Given the description of an element on the screen output the (x, y) to click on. 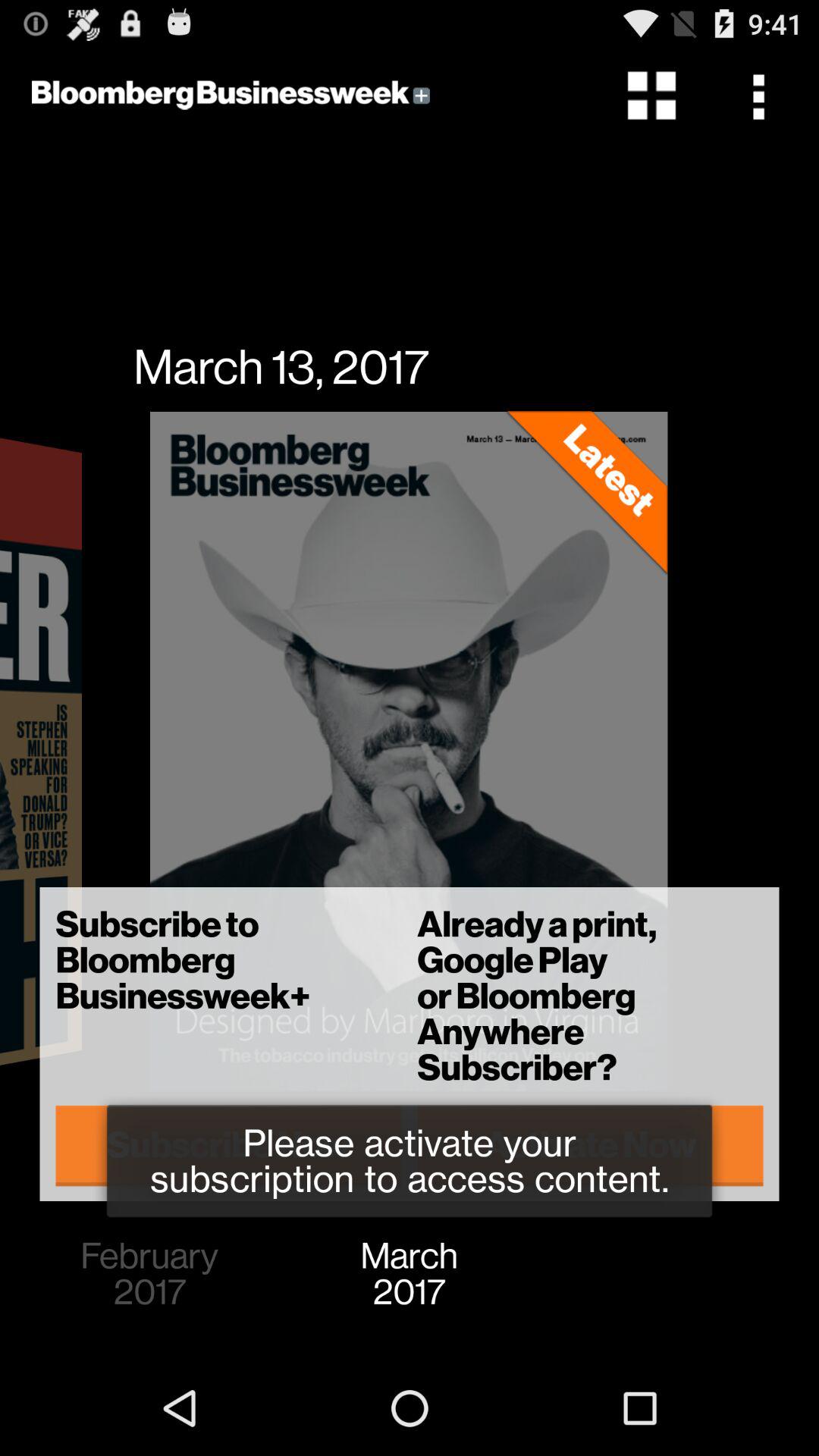
press the item next to already a print (228, 1145)
